Given the description of an element on the screen output the (x, y) to click on. 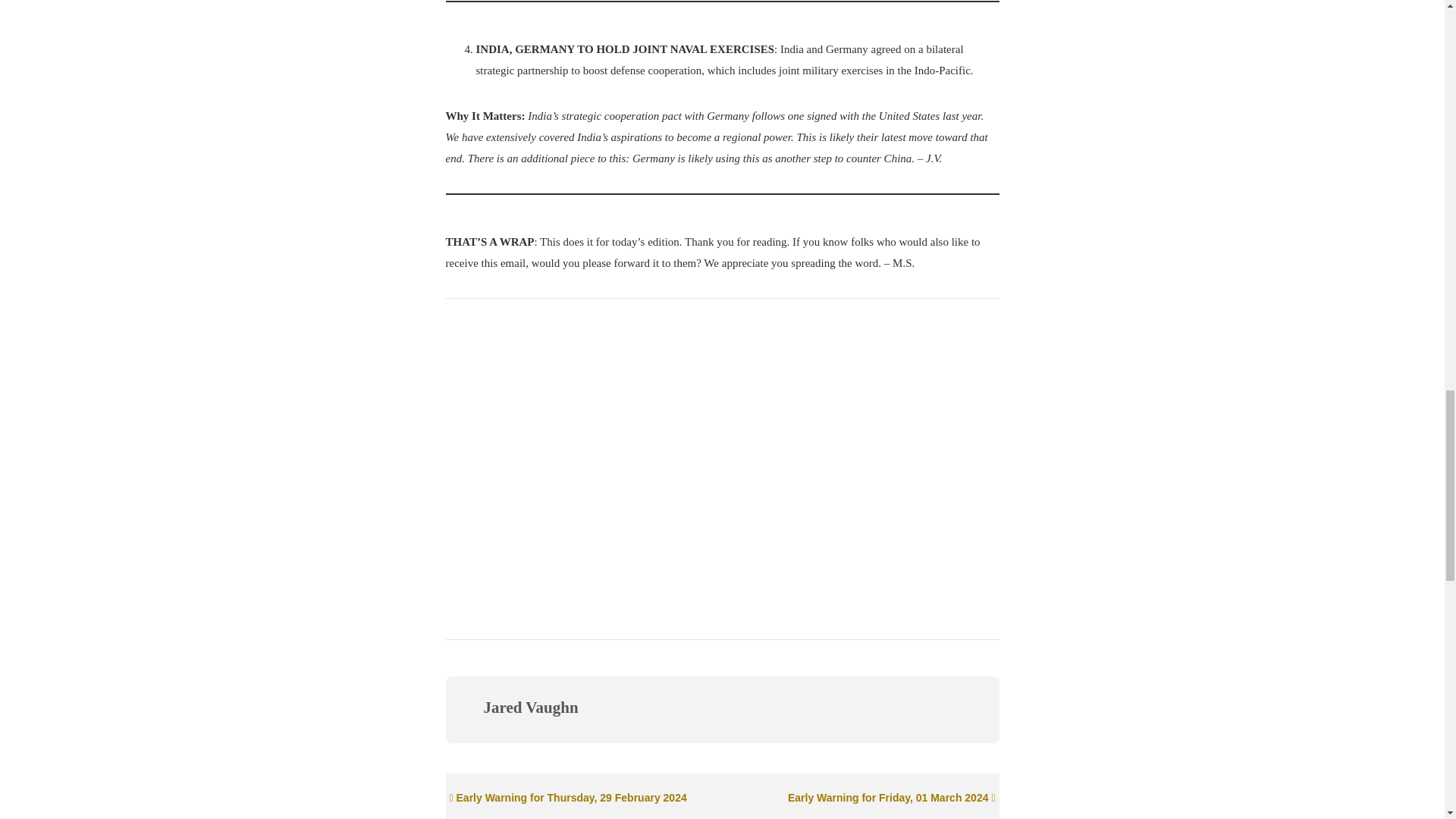
Jared Vaughn (530, 707)
Early Warning for Friday, 01 March 2024  (891, 797)
 Early Warning for Thursday, 29 February 2024 (566, 797)
All posts by Jared Vaughn (530, 707)
